Given the description of an element on the screen output the (x, y) to click on. 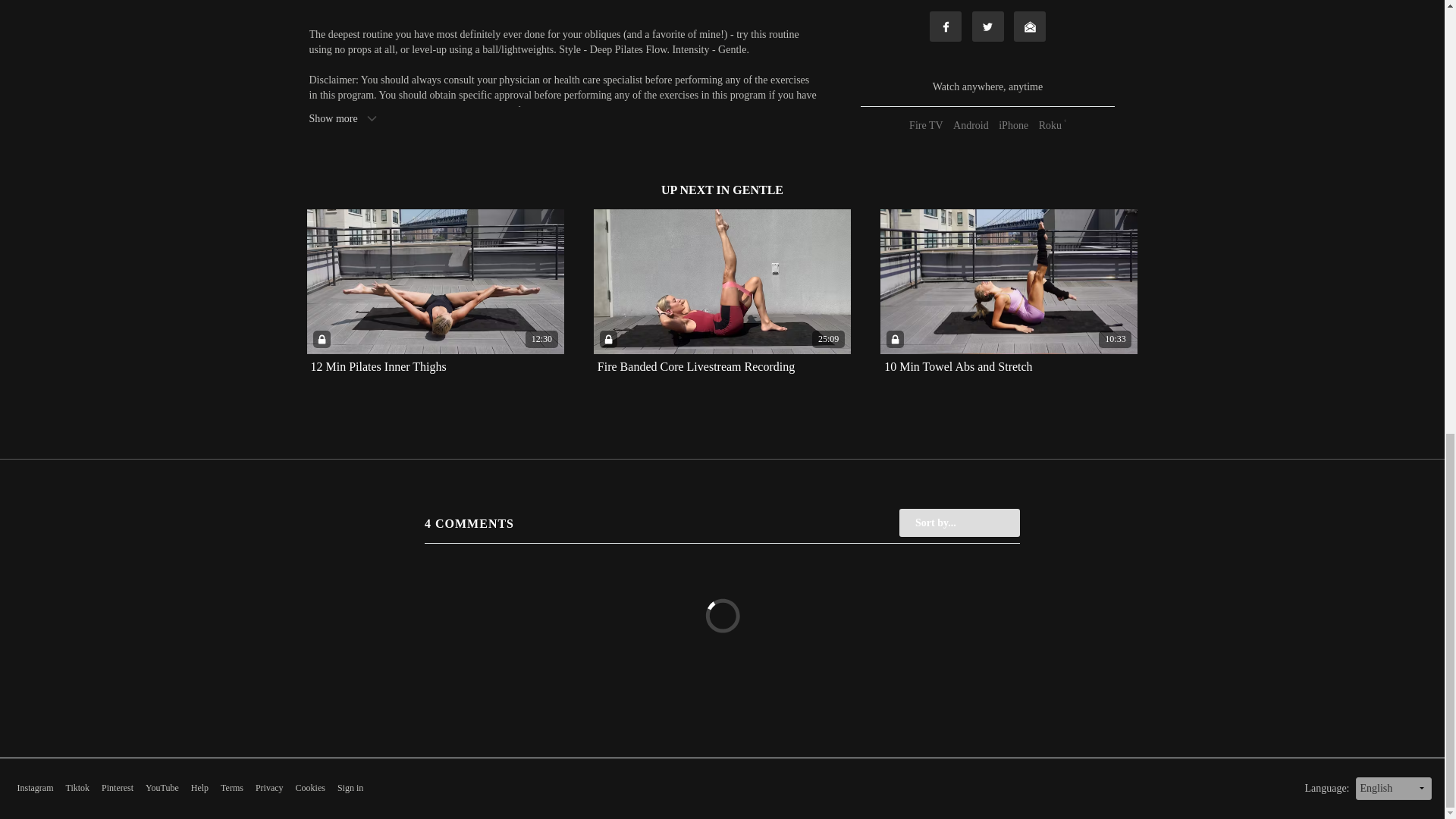
Twitter (988, 26)
12:30 (434, 281)
10 Min Towel Abs and Stretch (957, 366)
12 Min Pilates Inner Thighs (378, 366)
10 Min Towel Abs and Stretch (957, 367)
10:33 (1008, 281)
12 Min Pilates Inner Thighs (378, 367)
Facebook (945, 26)
Fire TV (925, 125)
Instagram (34, 788)
